Given the description of an element on the screen output the (x, y) to click on. 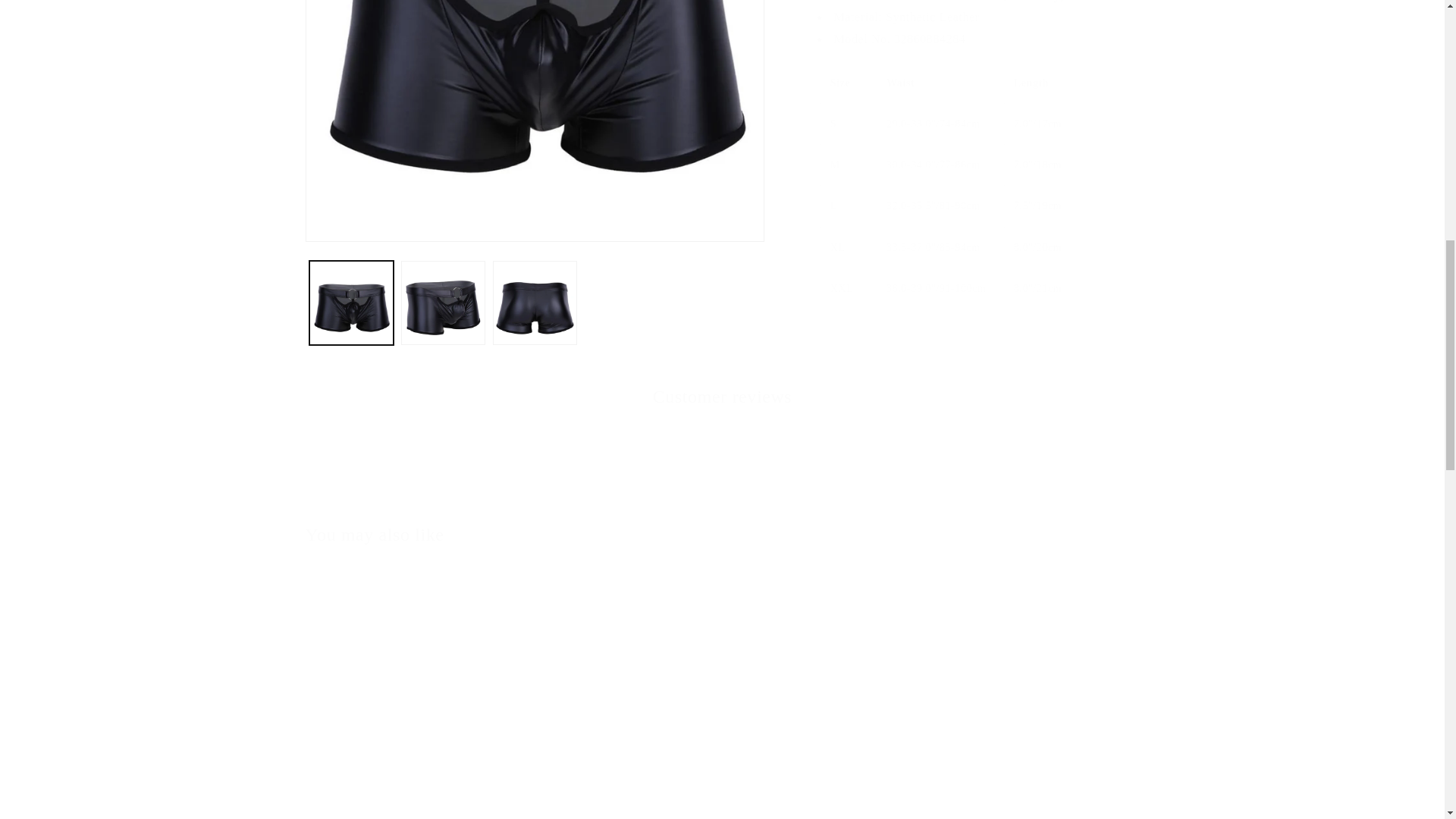
You may also like (374, 535)
Carousel gallery reviews widget (721, 466)
Customer reviews (721, 396)
